Given the description of an element on the screen output the (x, y) to click on. 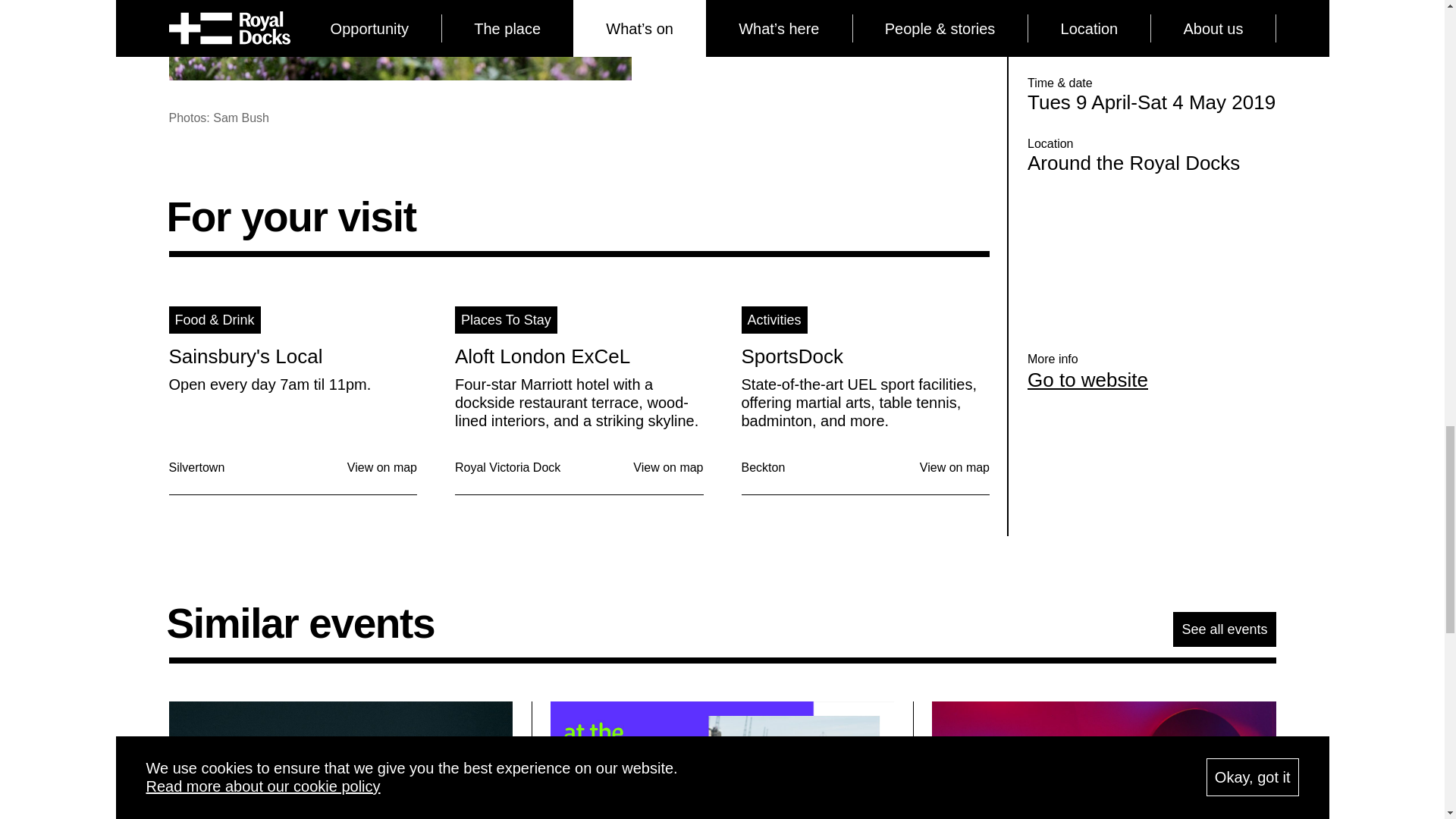
View on map (381, 467)
View on map (668, 467)
See all events (1224, 629)
View on map (955, 467)
